Given the description of an element on the screen output the (x, y) to click on. 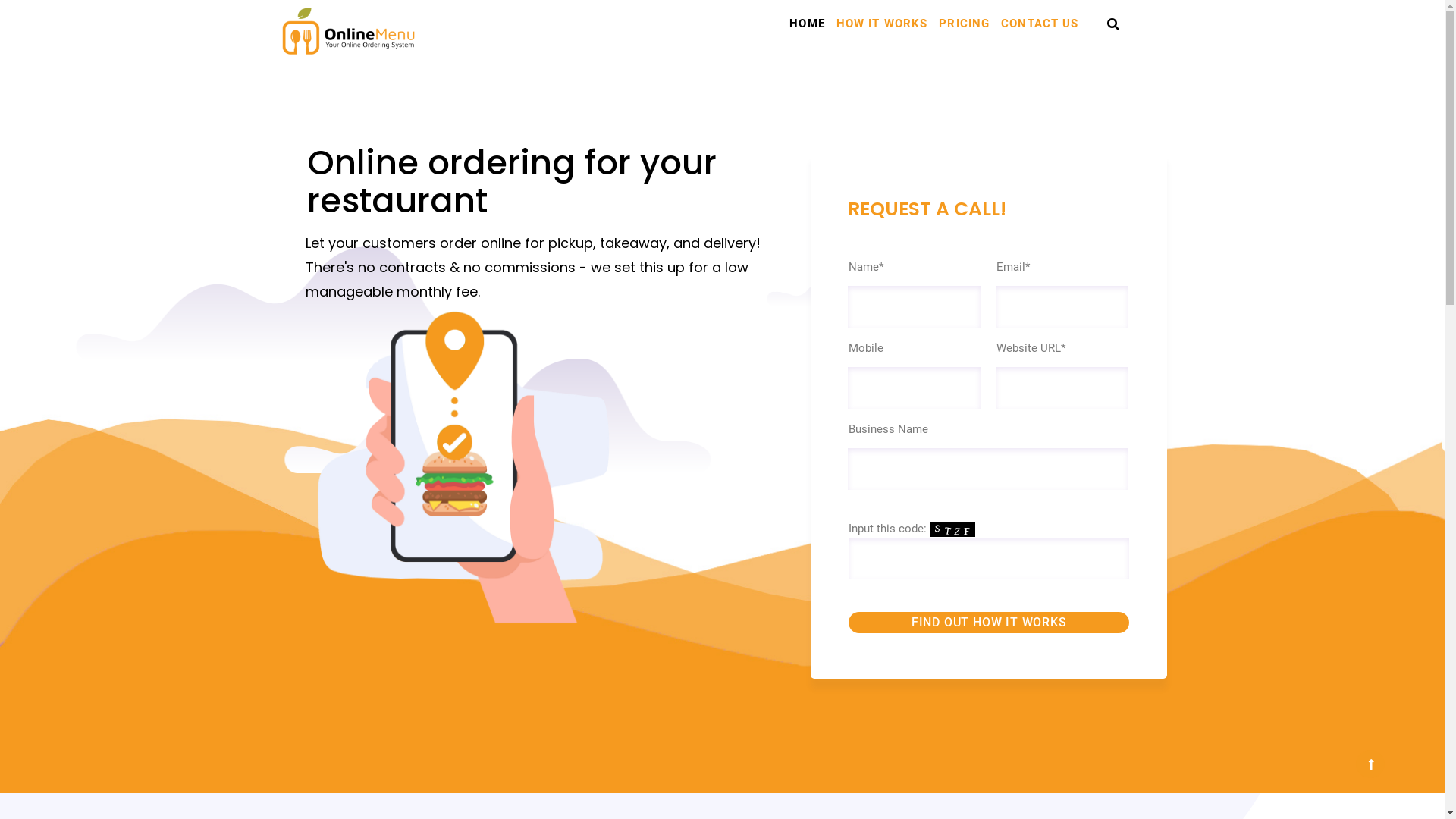
PRICING Element type: text (963, 26)
CONTACT US Element type: text (1039, 26)
HOME Element type: text (807, 26)
FIND OUT HOW IT WORKS Element type: text (988, 622)
HOW IT WORKS Element type: text (882, 26)
